Given the description of an element on the screen output the (x, y) to click on. 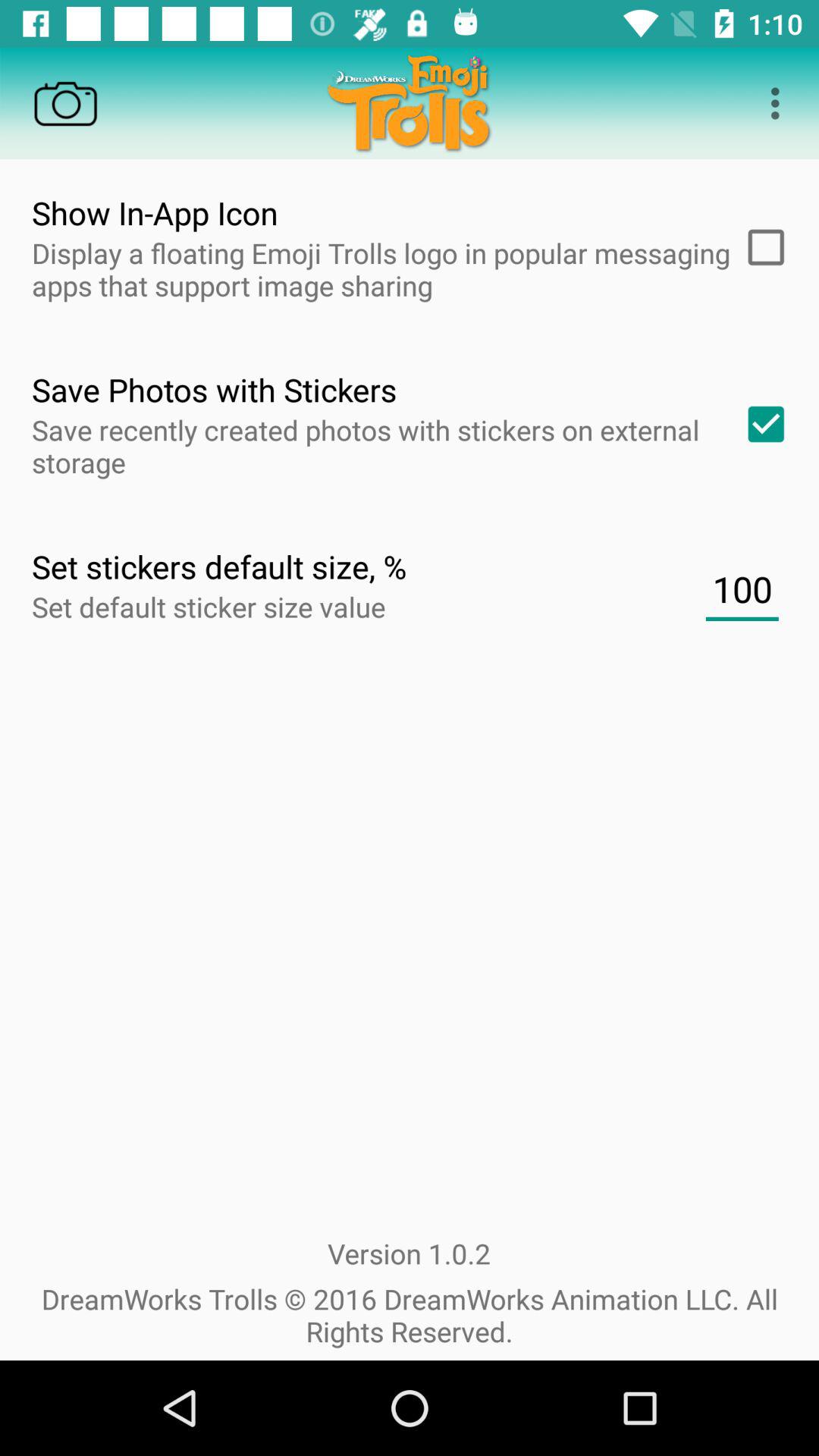
click on the camera icon (65, 103)
select three dots icon on top right corner (779, 103)
click on check box which is left to save photos with stickers (760, 425)
go to 100 (741, 589)
